Given the description of an element on the screen output the (x, y) to click on. 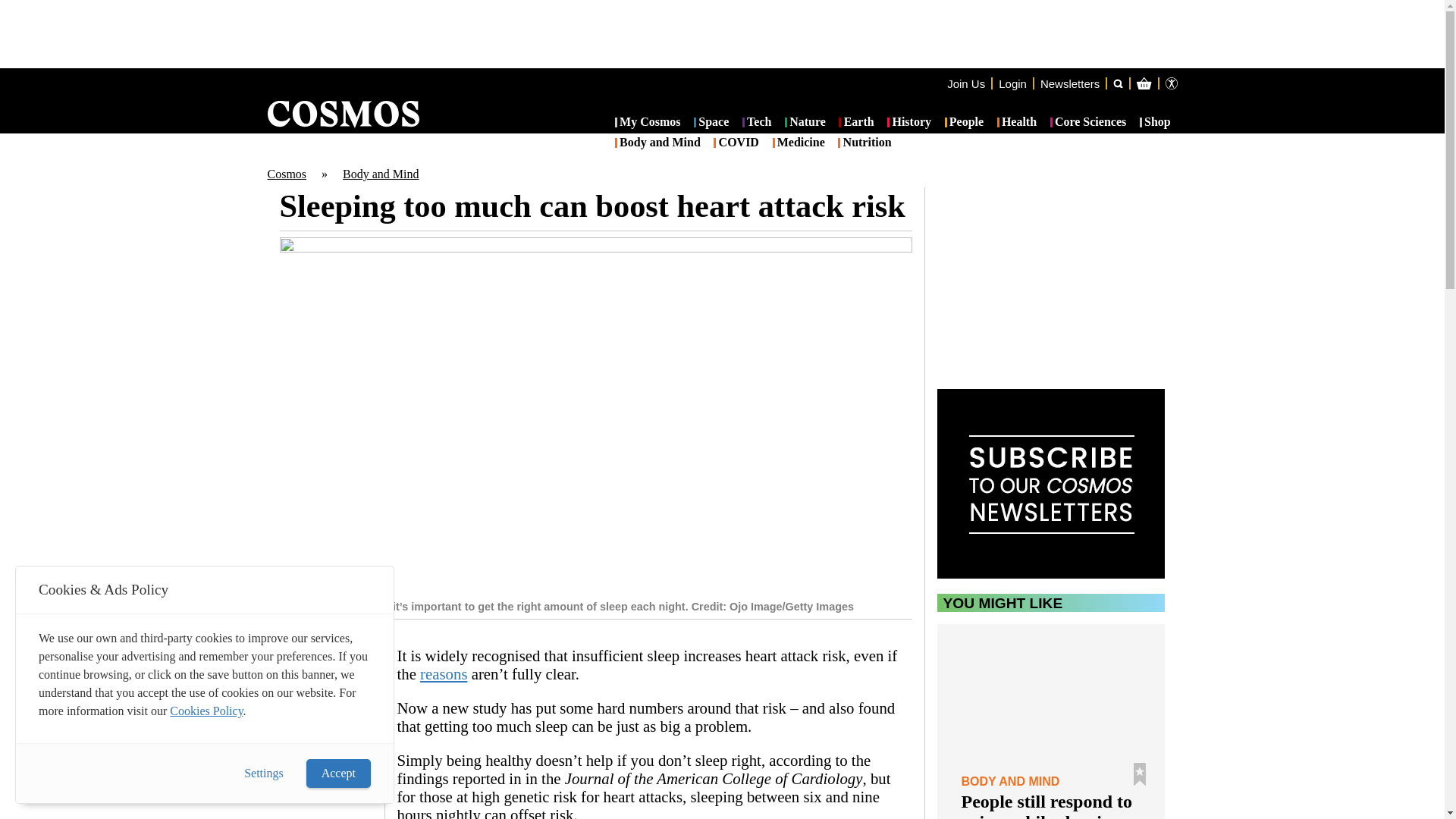
Body and Mind (657, 143)
Cart (1223, 144)
Shop (1155, 122)
Tech (756, 122)
Cosmos (285, 173)
Nick Carne (331, 699)
History (908, 122)
Health (1016, 122)
Accessibility Tools (1170, 82)
Nature (804, 122)
Body and Mind (380, 173)
reasons (443, 673)
My Cosmos (647, 122)
COVID (735, 143)
Join Us (966, 82)
